Given the description of an element on the screen output the (x, y) to click on. 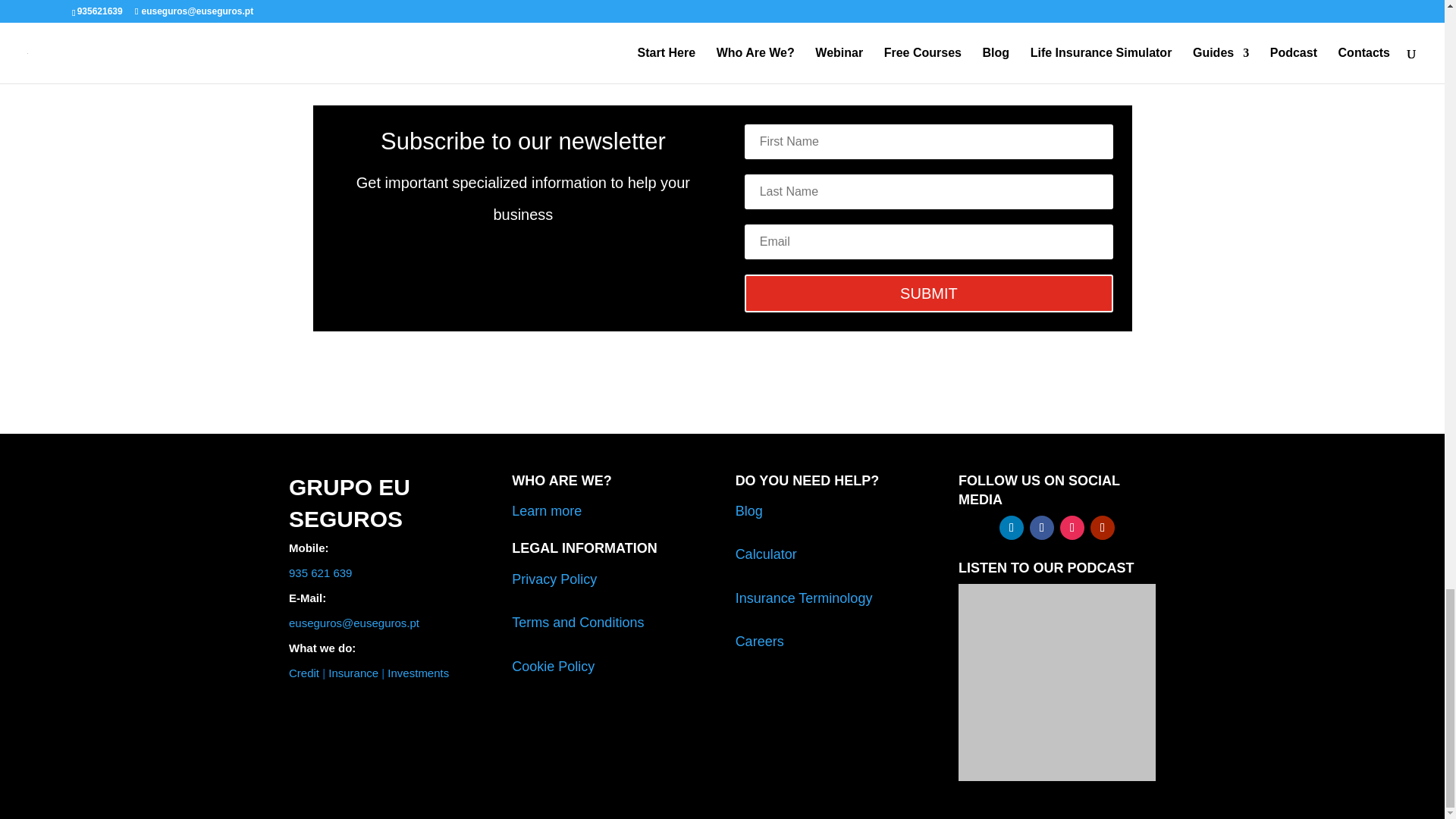
Credit (303, 672)
935 621 639 (320, 572)
Cookie Policy (553, 666)
Follow on LinkedIn (1010, 527)
Follow on Instagram (1071, 527)
Follow on Facebook (1041, 527)
Terms and Conditions (577, 622)
Investments (417, 672)
Calculator (765, 554)
Blog (748, 510)
